Given the description of an element on the screen output the (x, y) to click on. 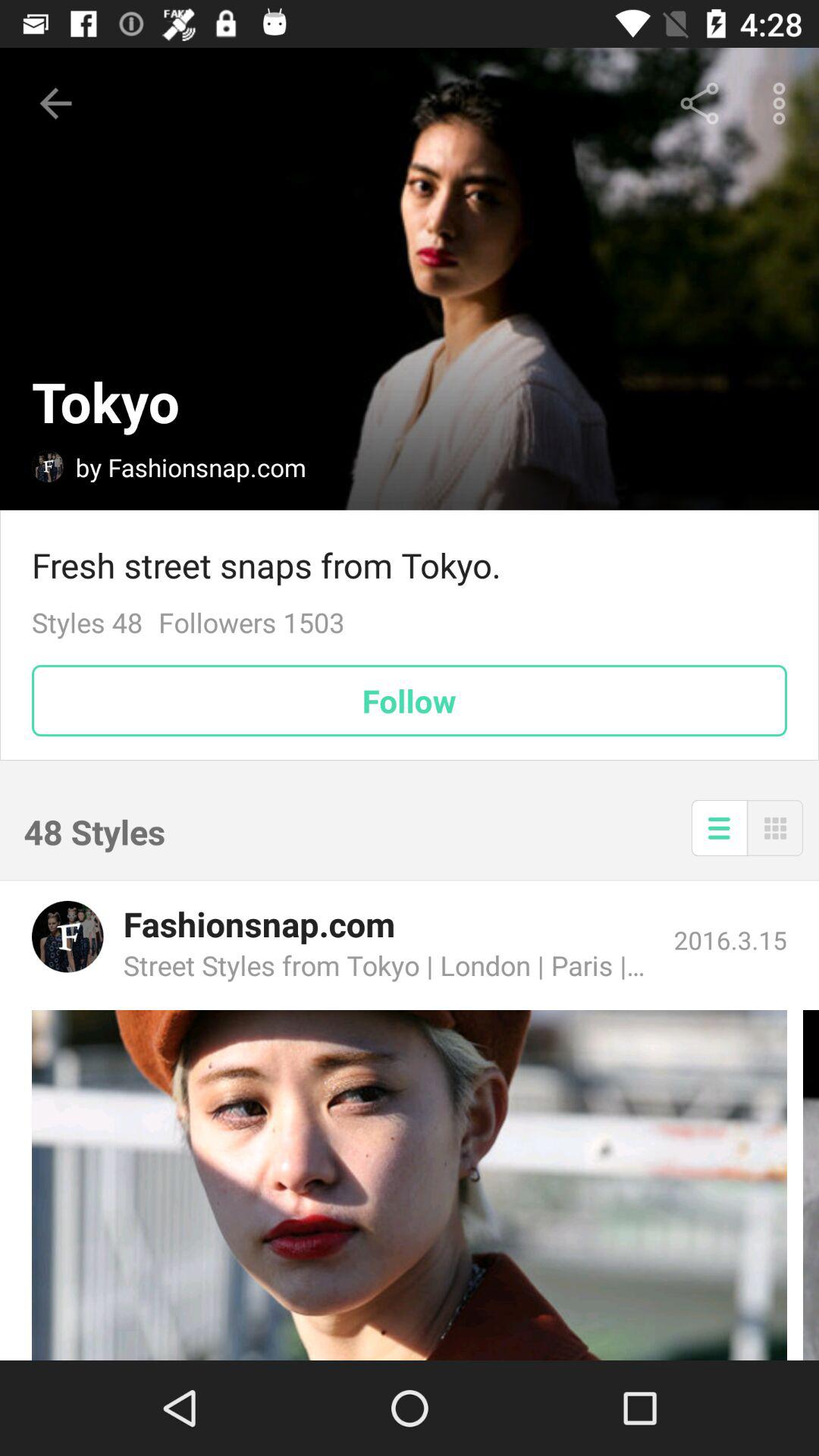
launch the icon below follow (775, 827)
